Given the description of an element on the screen output the (x, y) to click on. 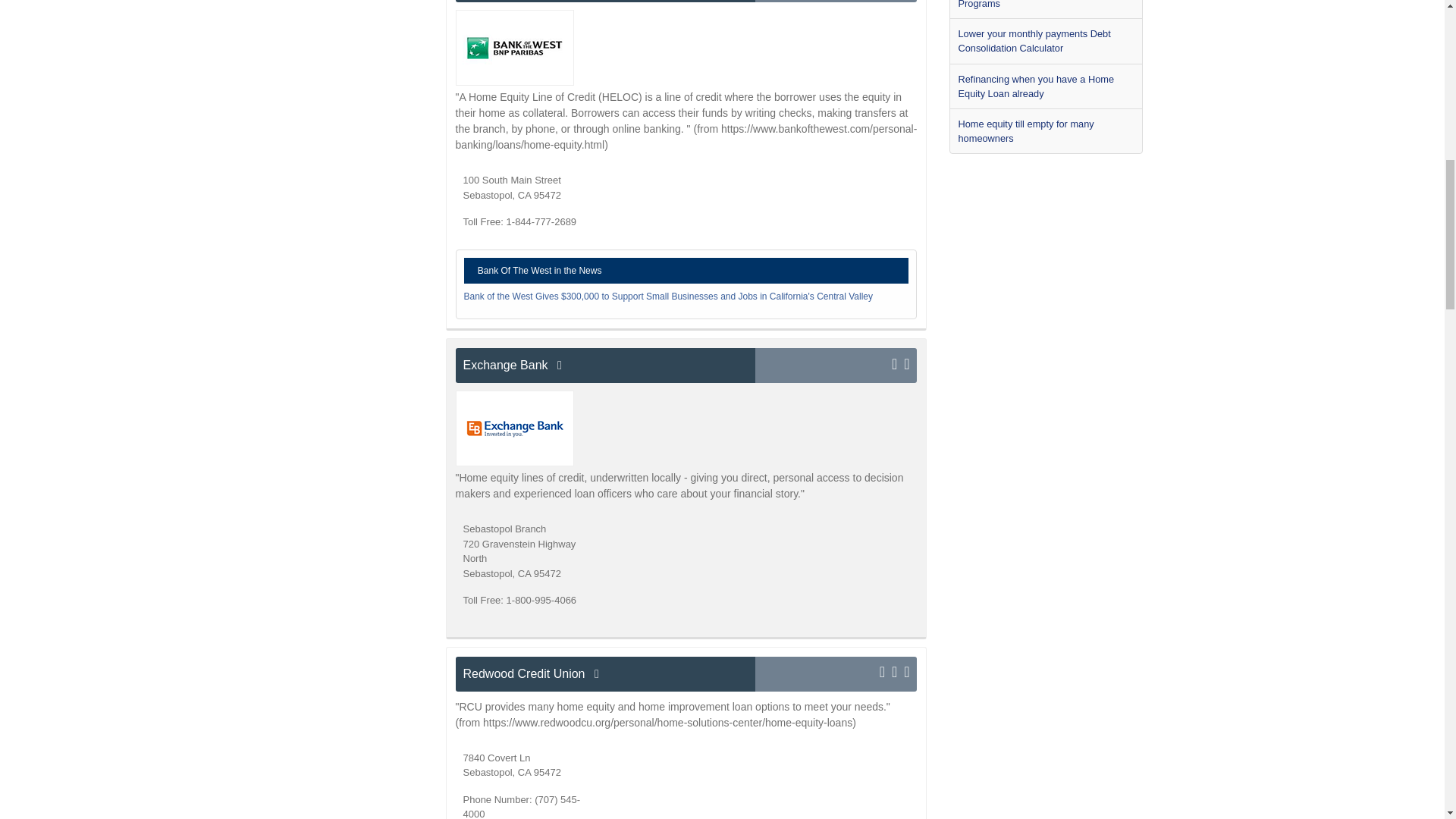
Exchange Bank (604, 365)
Redwood Credit Union (604, 673)
